Given the description of an element on the screen output the (x, y) to click on. 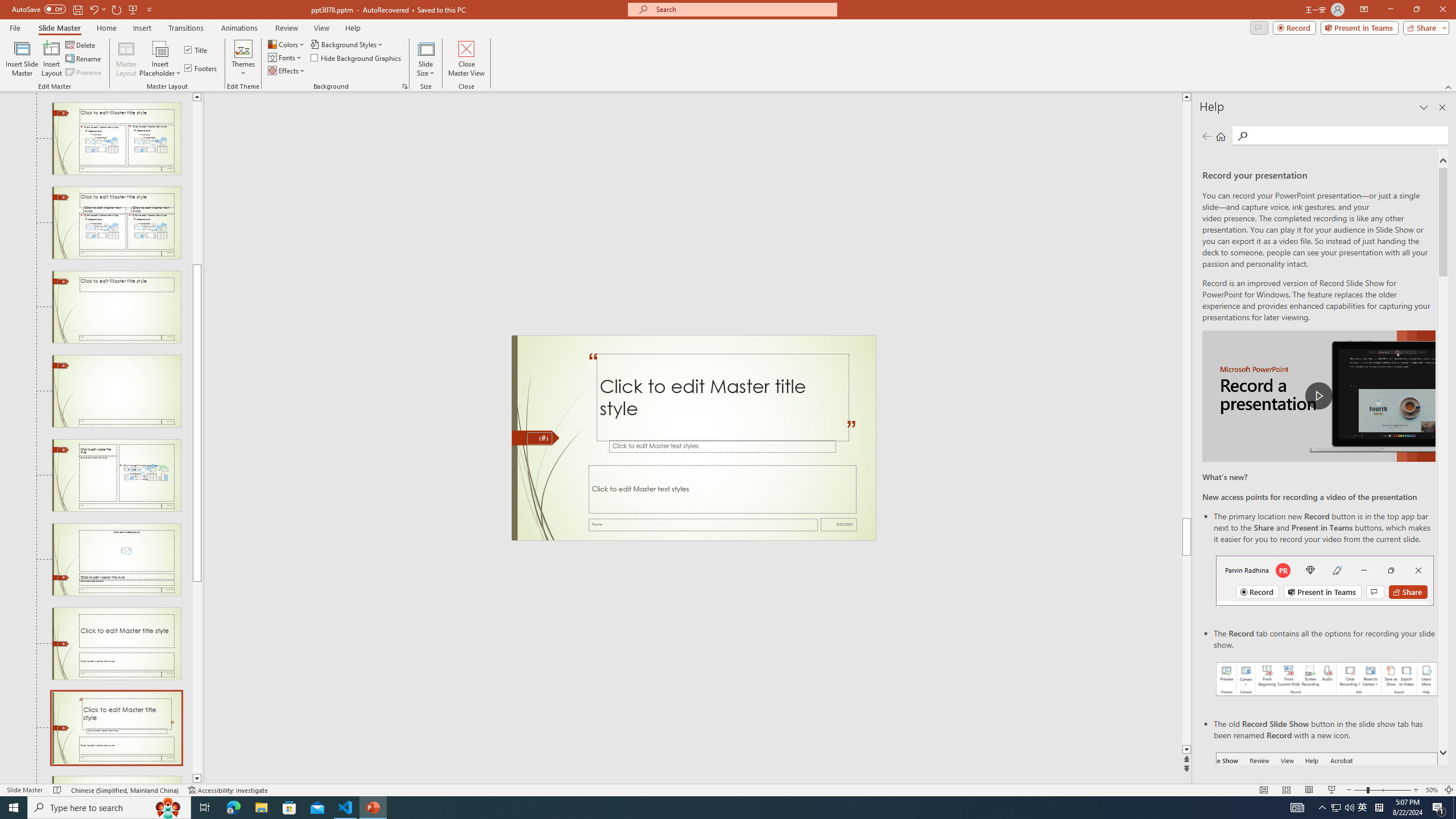
Page down (197, 677)
Delete (81, 44)
Themes (243, 58)
Slide Content with Caption Layout: used by no slides (116, 475)
Slide Quote with Caption Layout: used by no slides (116, 728)
Slide Title Only Layout: used by no slides (116, 307)
Slide Title and Caption Layout: used by no slides (116, 643)
Record button in top bar (1324, 580)
